Given the description of an element on the screen output the (x, y) to click on. 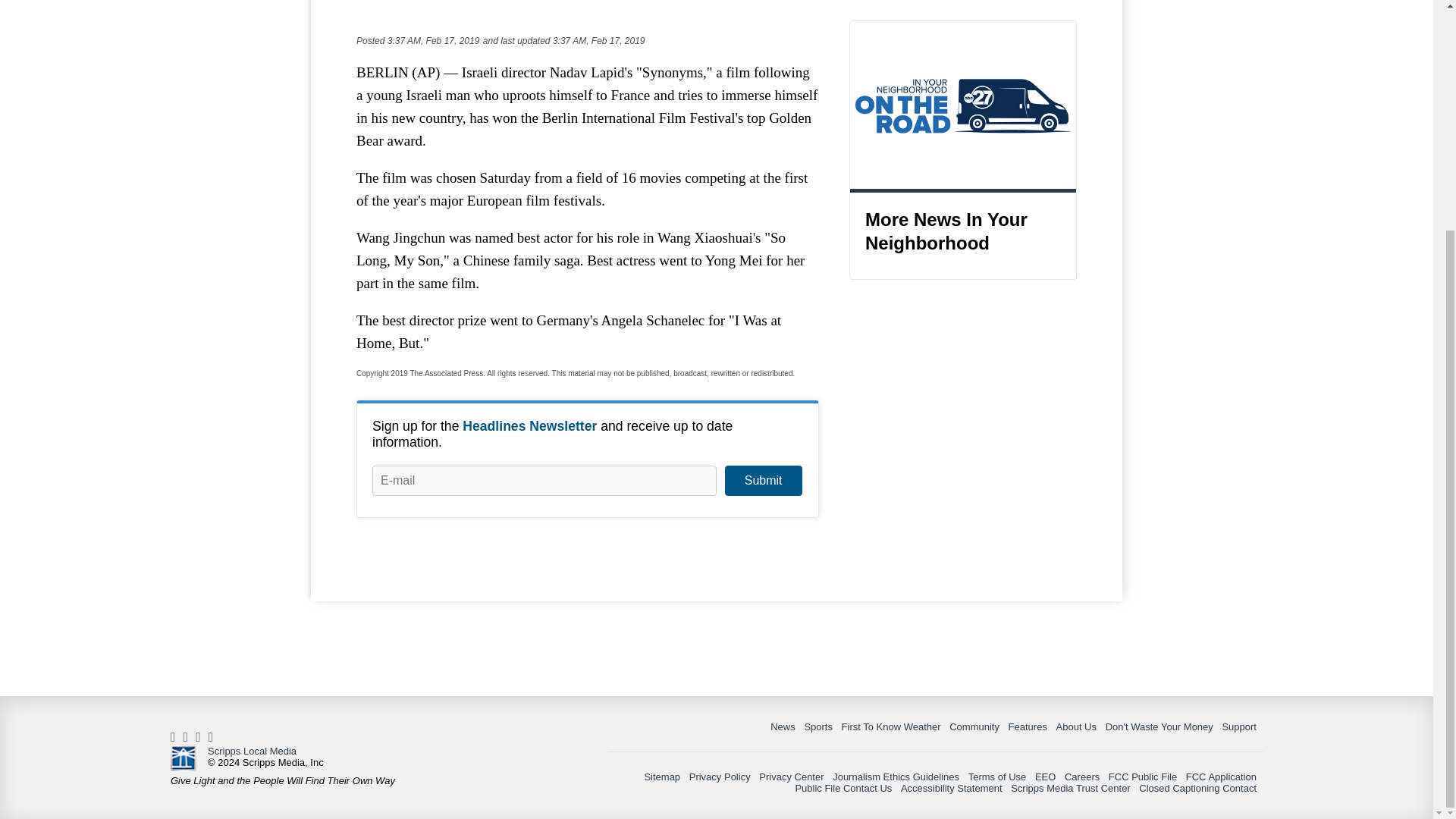
Submit (763, 481)
